Given the description of an element on the screen output the (x, y) to click on. 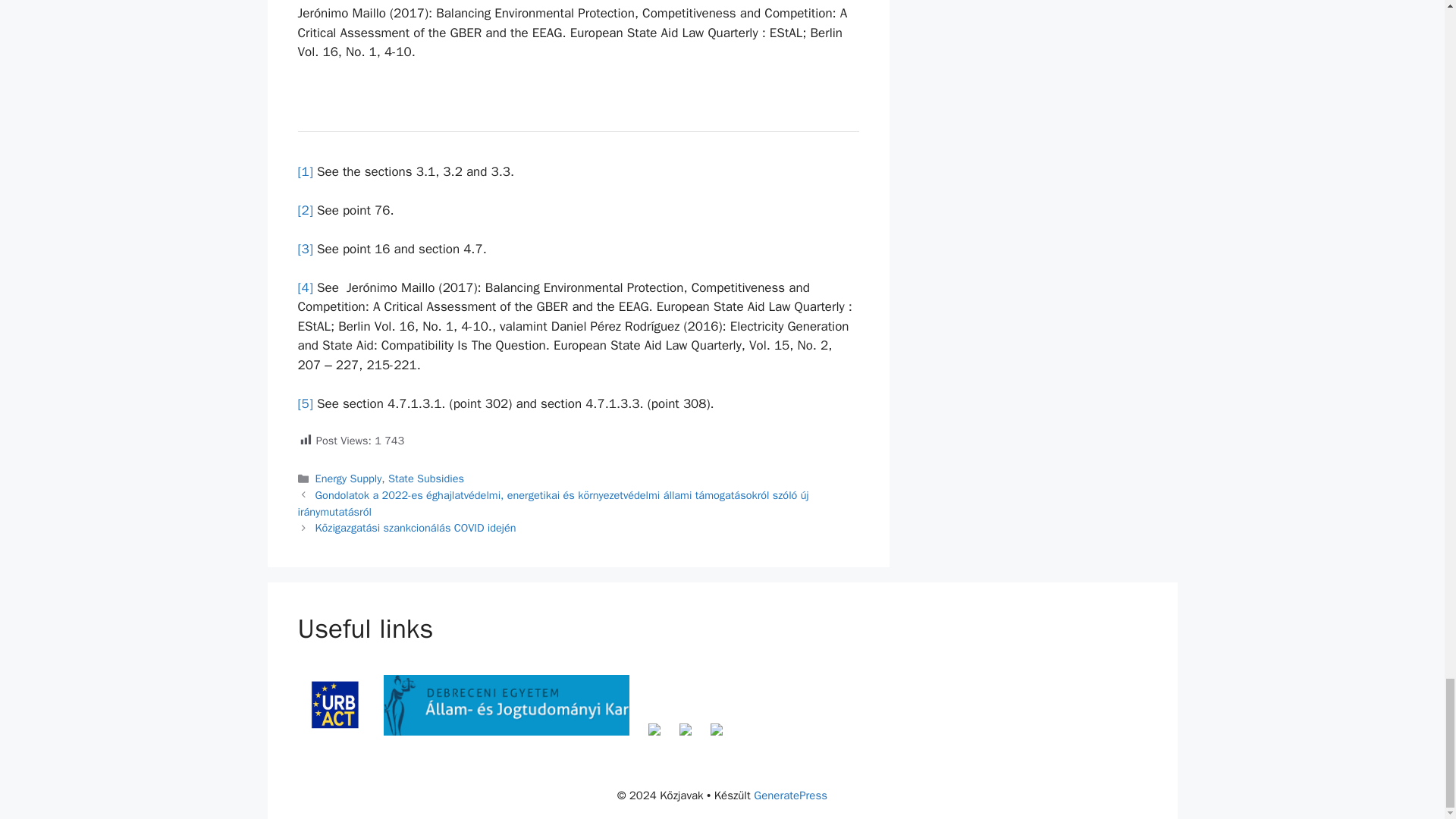
GeneratePress (790, 795)
State Subsidies (426, 478)
Energy Supply (348, 478)
